Given the description of an element on the screen output the (x, y) to click on. 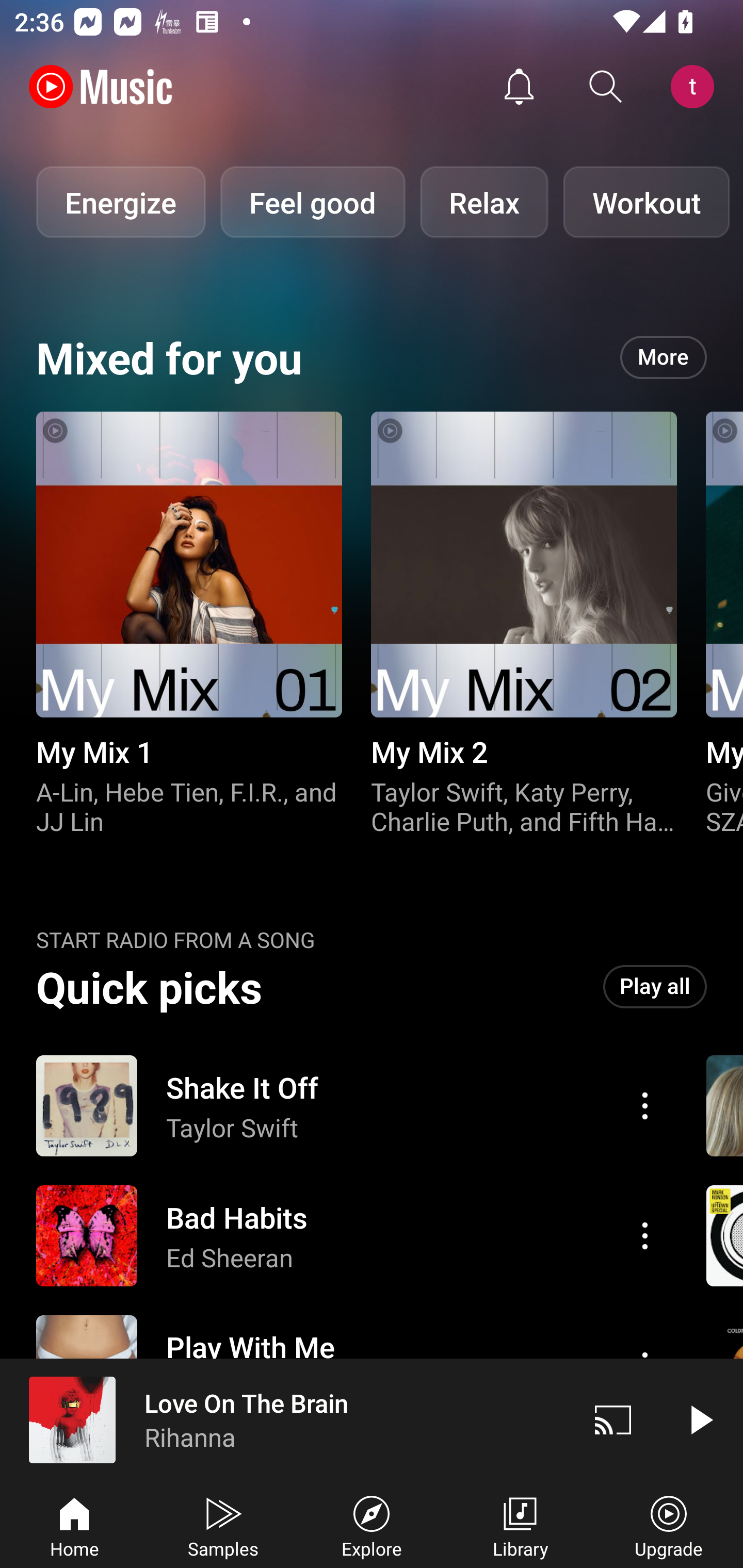
Activity feed (518, 86)
Search (605, 86)
Account (696, 86)
Action menu (349, 1106)
Action menu (644, 1106)
Action menu (349, 1236)
Action menu (644, 1235)
Love On The Brain Rihanna (284, 1419)
Cast. Disconnected (612, 1419)
Play video (699, 1419)
Home (74, 1524)
Samples (222, 1524)
Explore (371, 1524)
Library (519, 1524)
Upgrade (668, 1524)
